Given the description of an element on the screen output the (x, y) to click on. 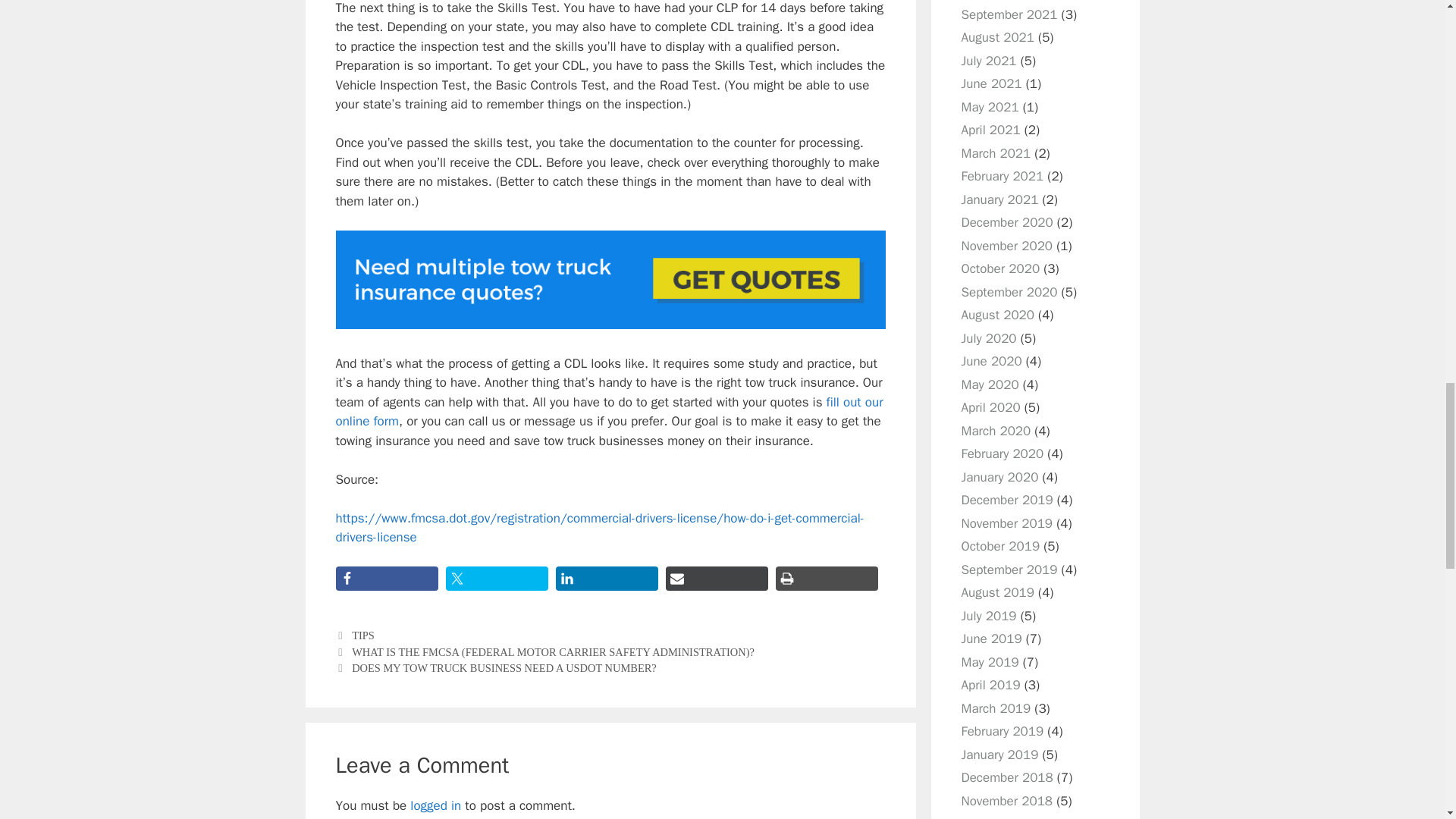
Share on Facebook (386, 578)
Print this Page (825, 578)
Share via Email (716, 578)
fill out our online form (608, 411)
Share on LinkedIn (606, 578)
Share on Twitter (496, 578)
